Given the description of an element on the screen output the (x, y) to click on. 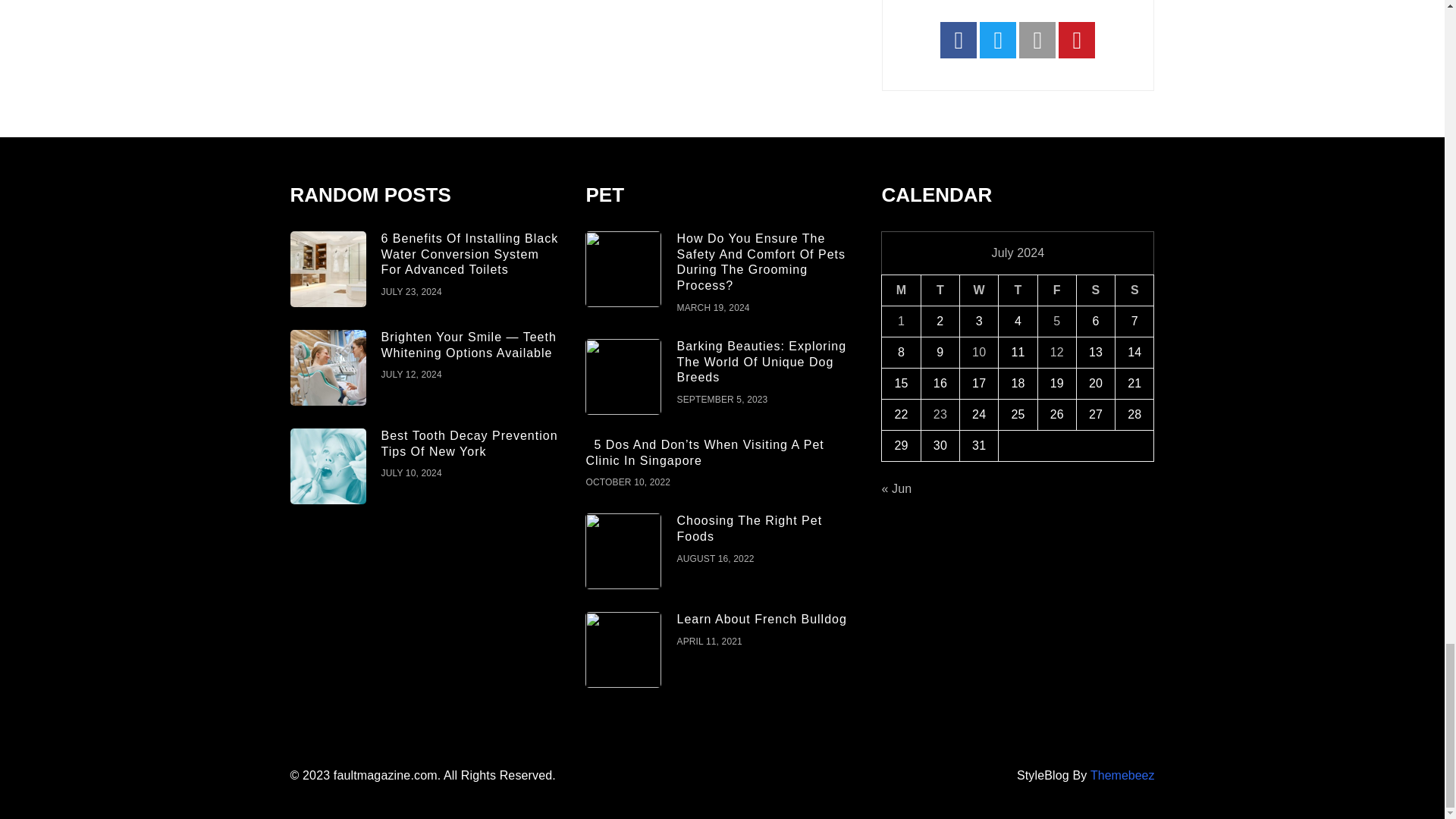
LinkedIn (1037, 40)
Pinterest (1076, 40)
Facebook (958, 40)
Tuesday (939, 289)
Saturday (1095, 289)
Wednesday (978, 289)
Sunday (1134, 289)
Thursday (1017, 289)
Friday (1055, 289)
Monday (901, 289)
Twitter (997, 40)
